Given the description of an element on the screen output the (x, y) to click on. 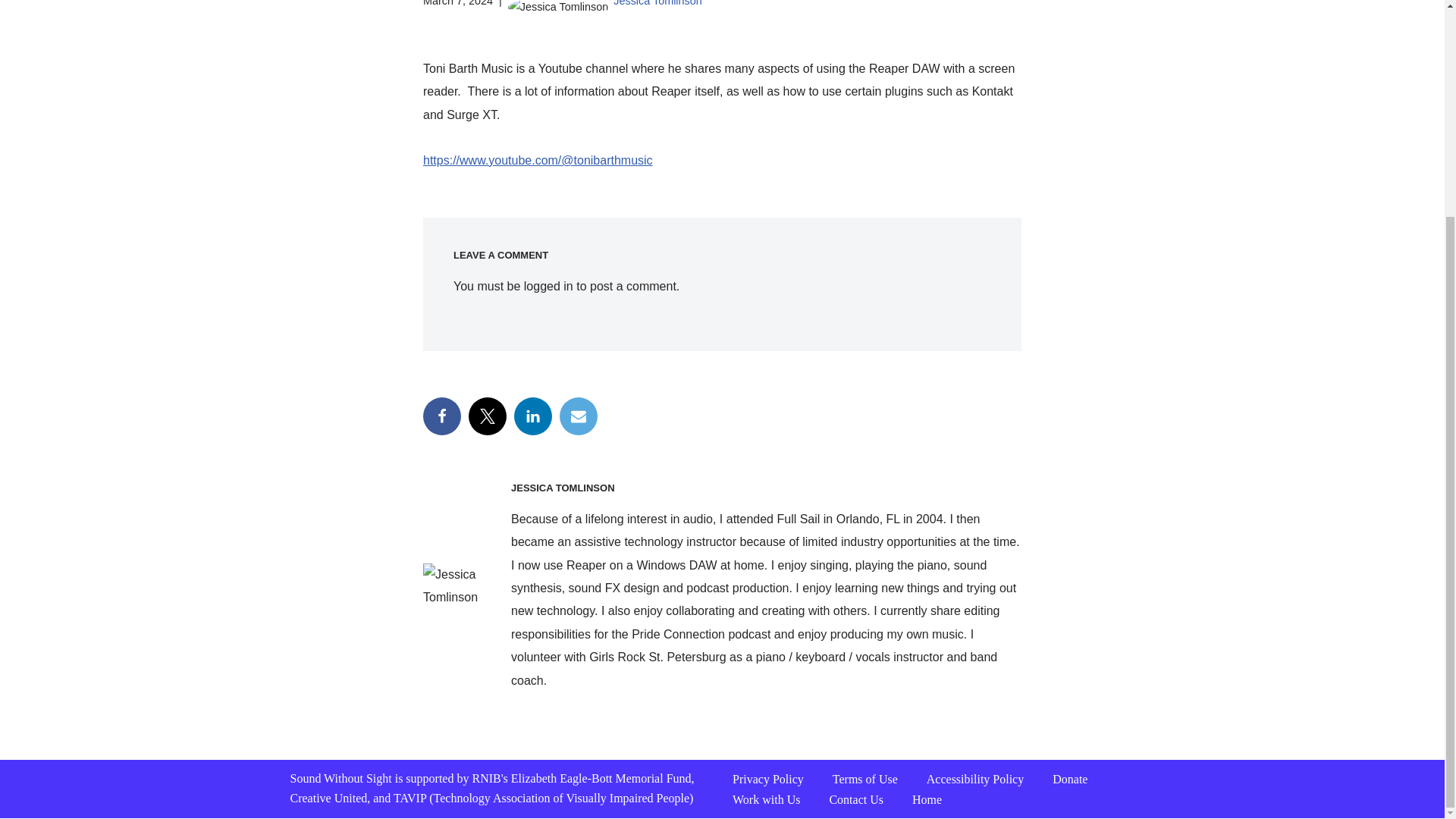
Posts by Jessica Tomlinson (656, 3)
Facebook (442, 415)
LinkedIn (532, 415)
Email (577, 415)
Twitter (487, 415)
